Given the description of an element on the screen output the (x, y) to click on. 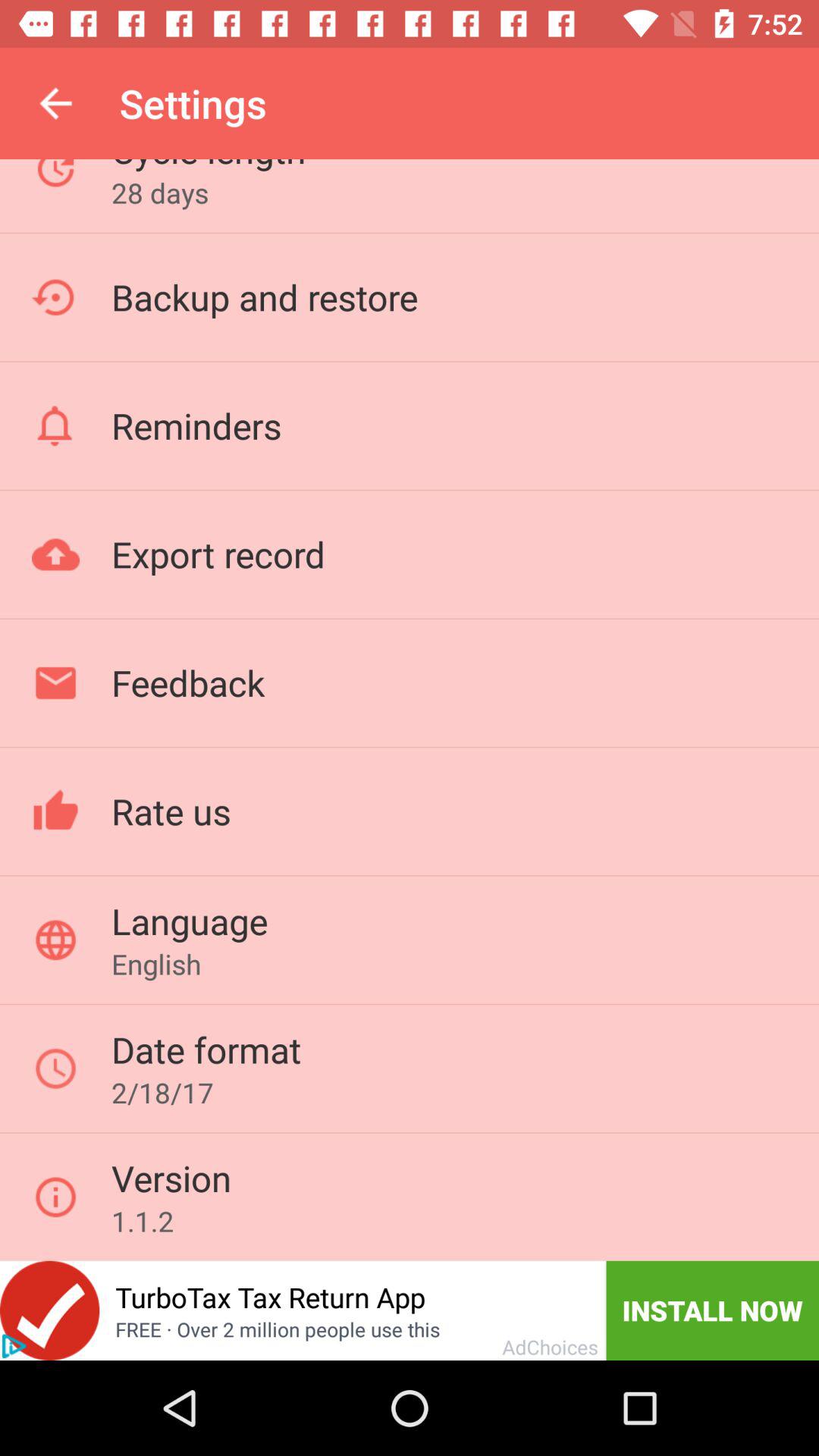
click icon below backup and restore (196, 425)
